Given the description of an element on the screen output the (x, y) to click on. 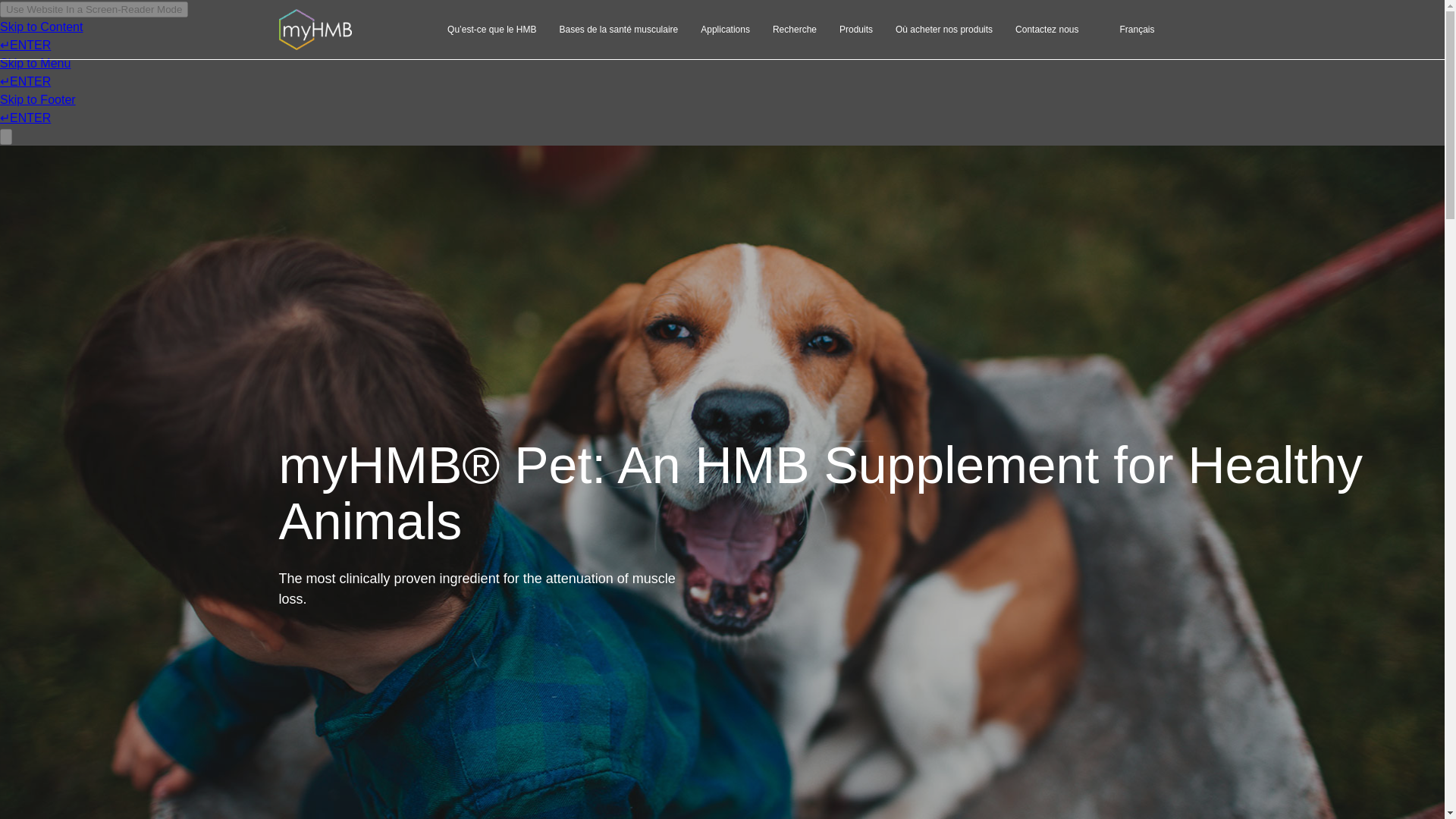
MyHMB (315, 28)
Contactez nous (1046, 29)
Recherche (794, 29)
Applications (724, 29)
Produits (855, 29)
